Given the description of an element on the screen output the (x, y) to click on. 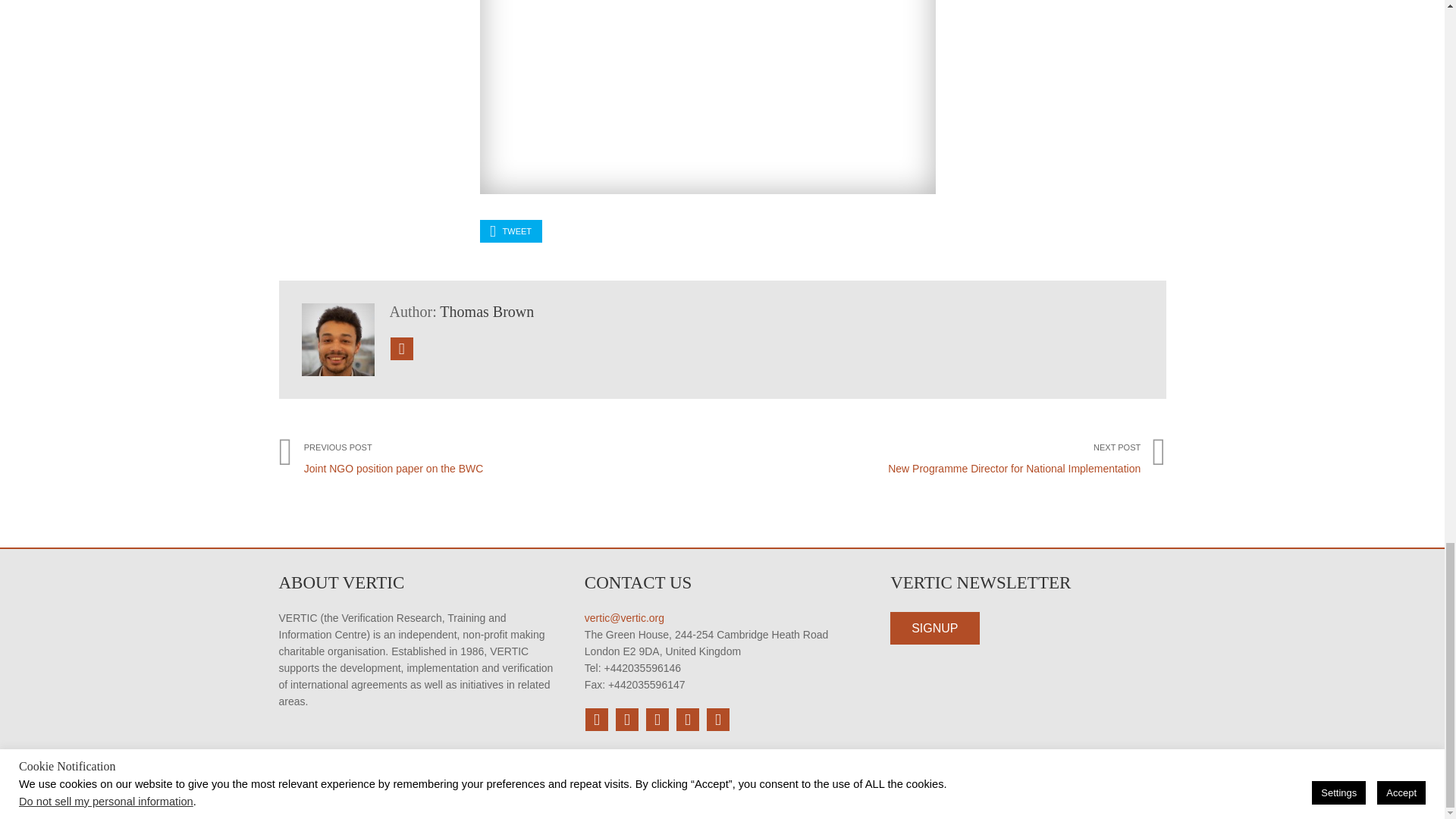
Facebook (596, 718)
Twiter (626, 718)
YouTube (686, 718)
LinkedIn (656, 718)
email (717, 718)
